Given the description of an element on the screen output the (x, y) to click on. 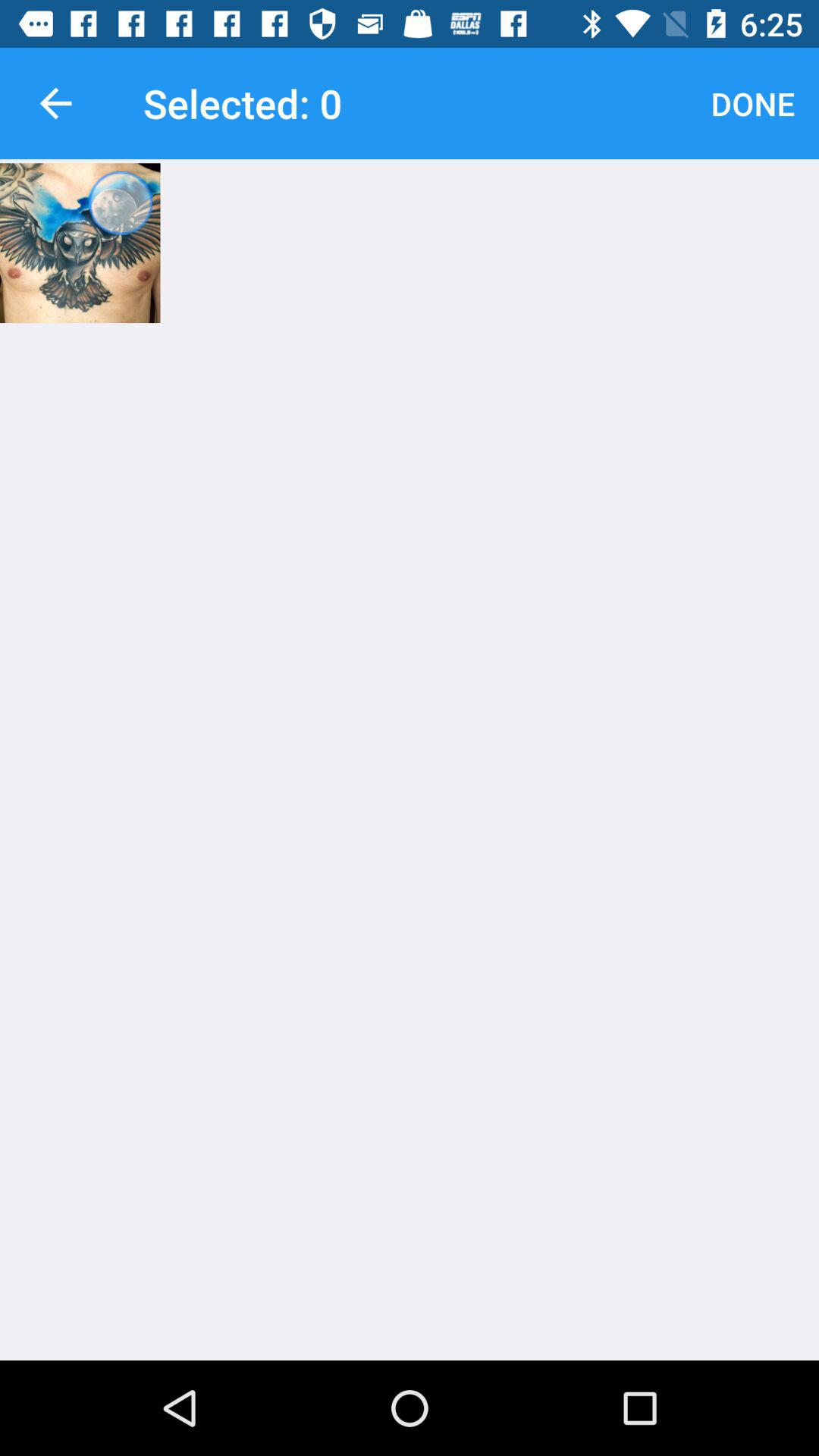
click done (753, 103)
